Given the description of an element on the screen output the (x, y) to click on. 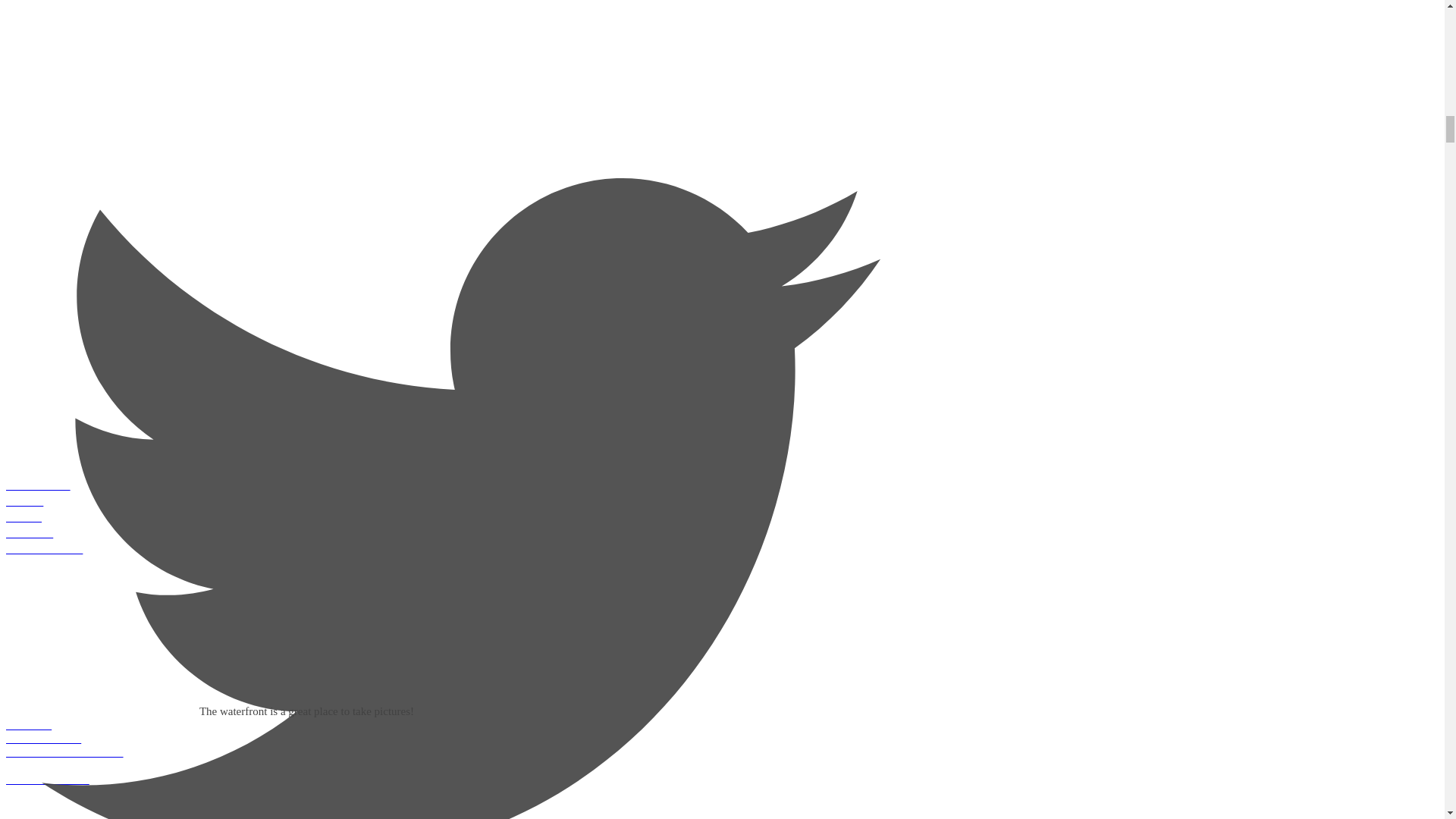
SHOP (460, 517)
PORTFOLIO (460, 549)
ABOUT (460, 533)
TRAVEL (460, 725)
BLOG (460, 501)
TRAVEL TIPS (460, 739)
PHOTOGRAPHY TIPS (460, 759)
CONTACT (460, 485)
FREELANCING (460, 780)
